Given the description of an element on the screen output the (x, y) to click on. 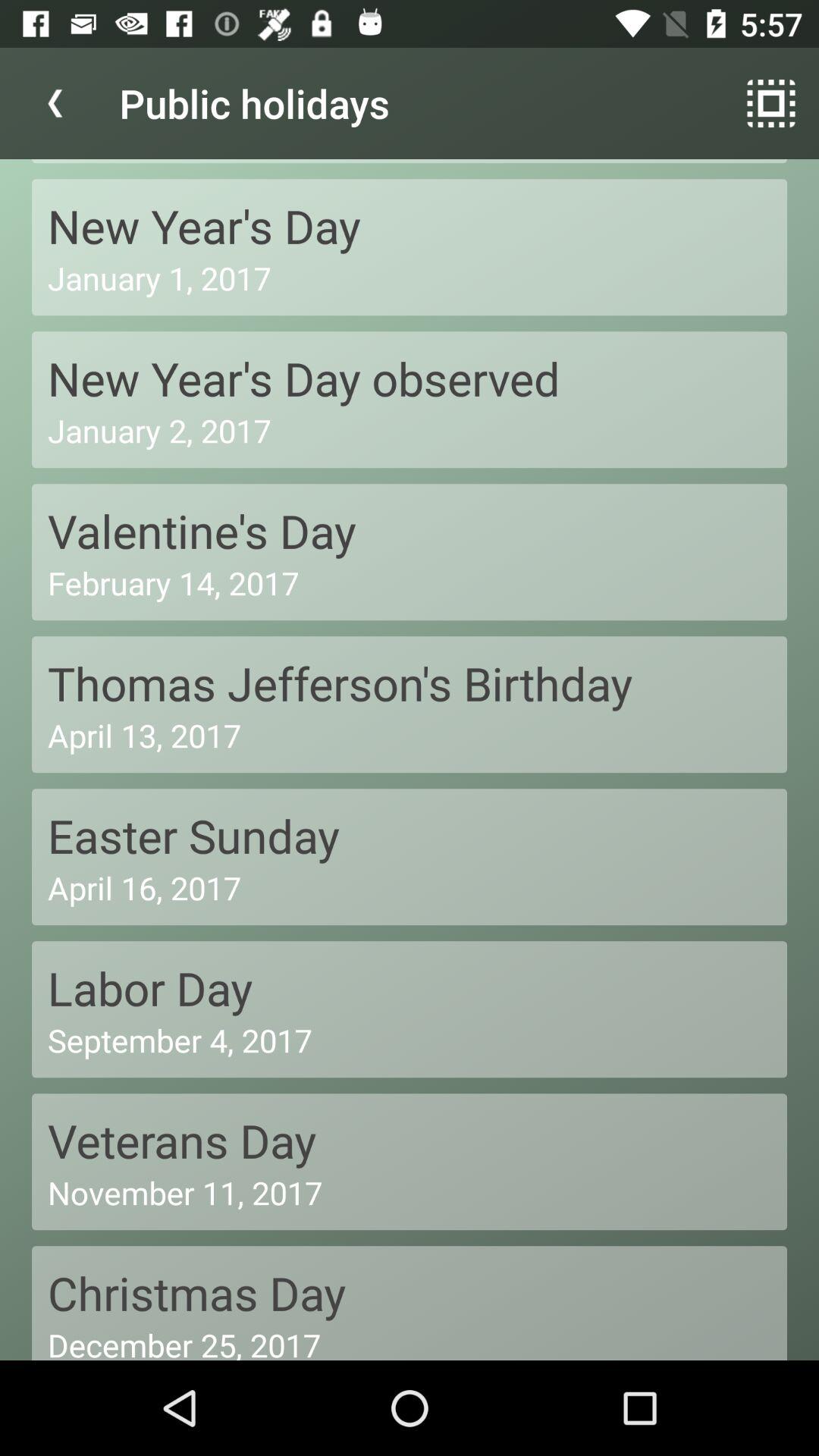
select symbol next to public holidays (771, 103)
